Given the description of an element on the screen output the (x, y) to click on. 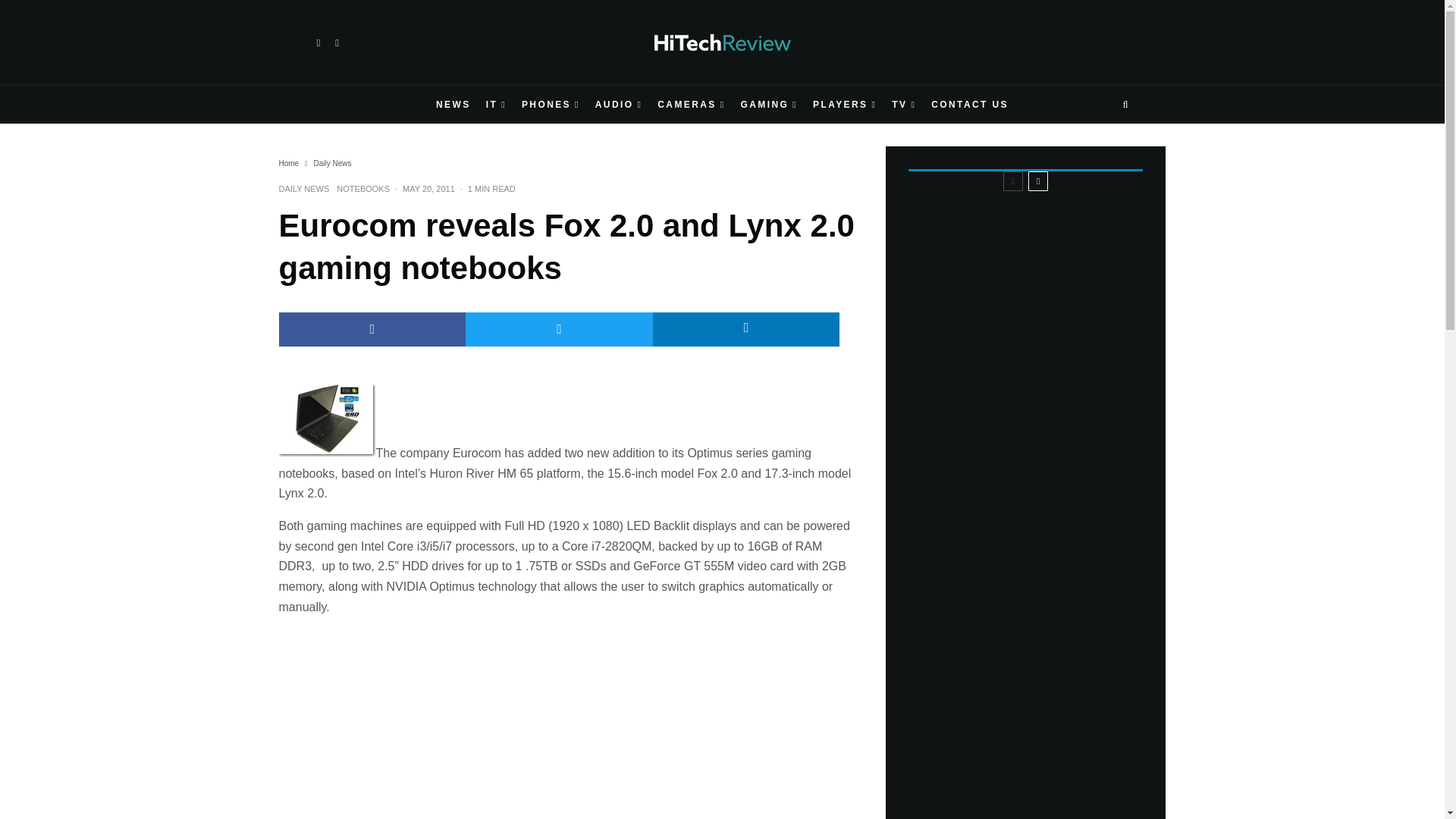
IT (496, 104)
NEWS (453, 104)
PHONES (550, 104)
